Given the description of an element on the screen output the (x, y) to click on. 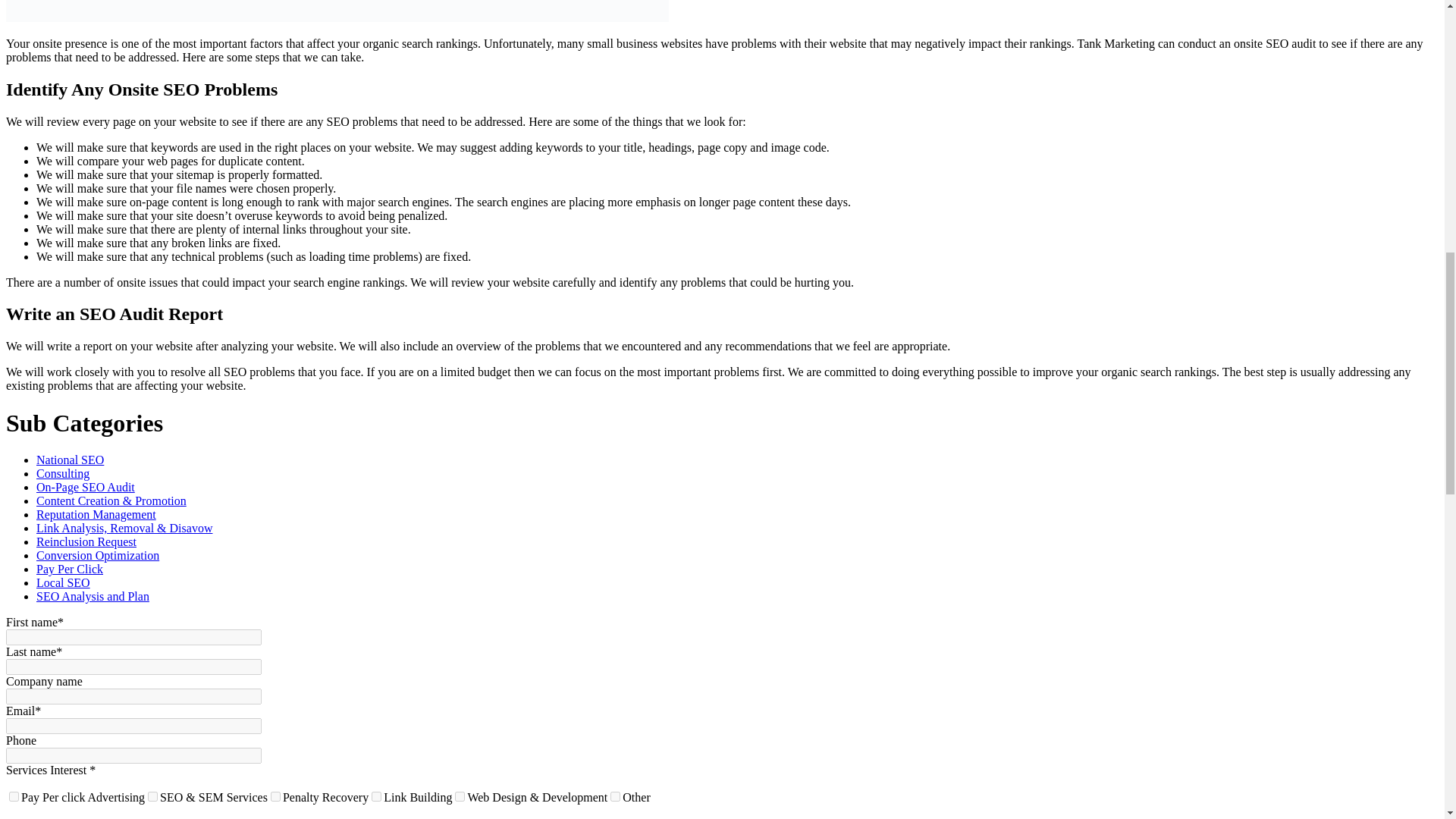
Link Building (376, 796)
Other (615, 796)
Reinclusion Request (86, 541)
National SEO (69, 459)
Pay Per click Advertising (13, 796)
Consulting (62, 472)
Reputation Management (95, 513)
Penalty Recovery (275, 796)
On-Page SEO Audit (85, 486)
